Given the description of an element on the screen output the (x, y) to click on. 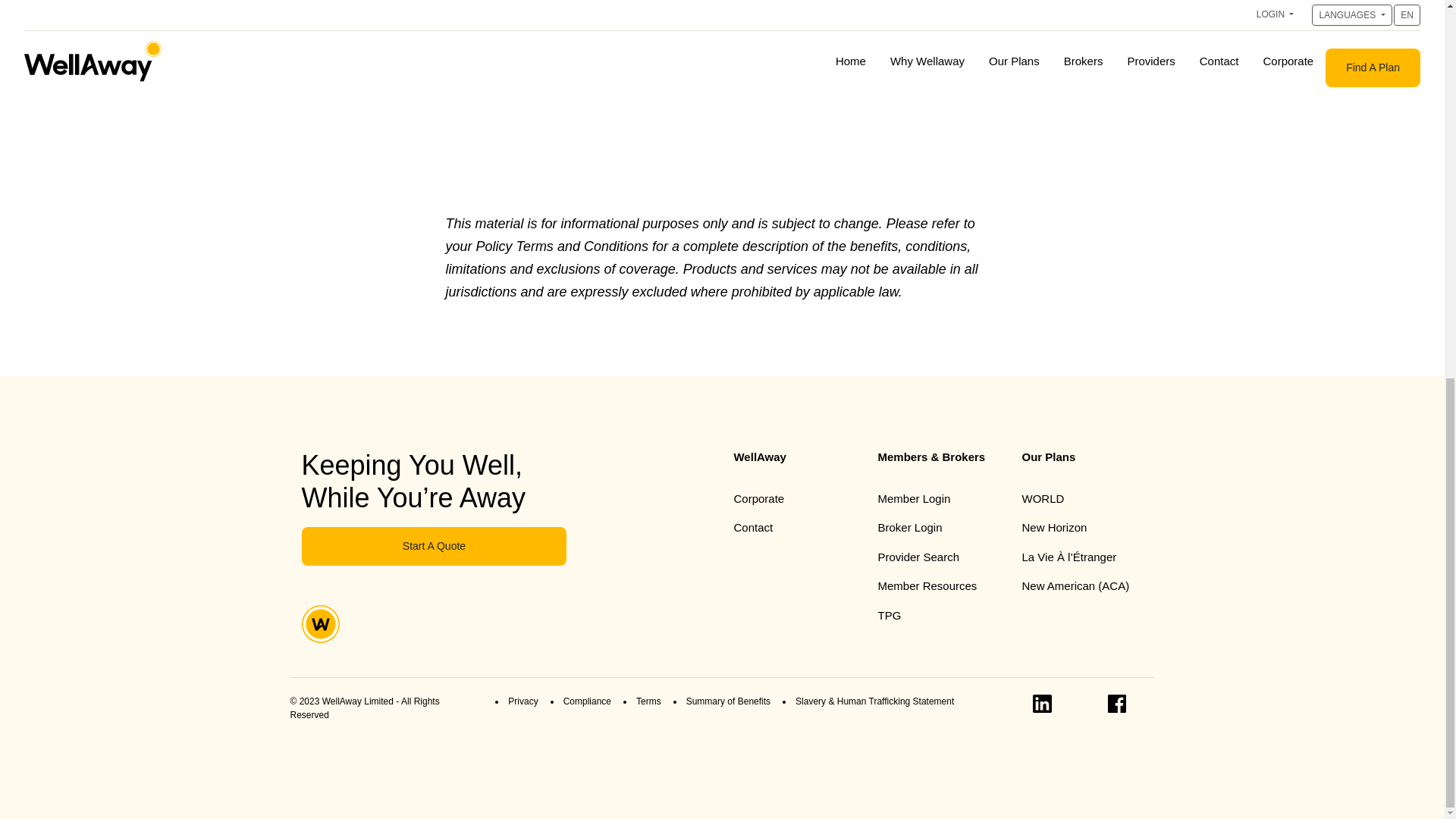
Start A Quote (434, 546)
New Horizon (1054, 526)
Privacy (522, 701)
Contact (753, 526)
Terms (648, 701)
Broker Login (909, 526)
WORLD (1043, 498)
Provider Search (918, 556)
Member Login (913, 498)
TPG (889, 615)
Corporate (758, 498)
Member Resources (926, 585)
Compliance (587, 701)
